Given the description of an element on the screen output the (x, y) to click on. 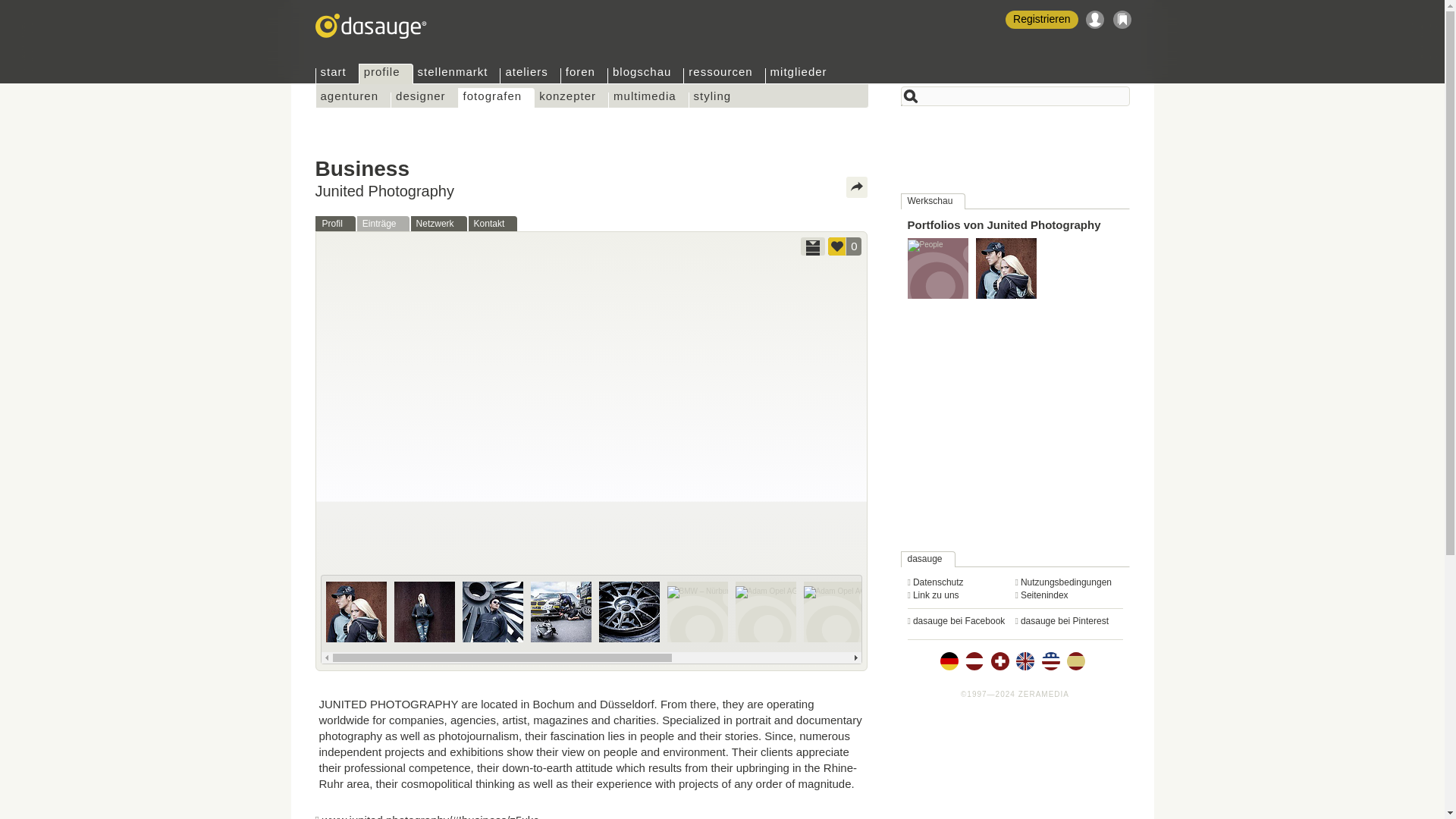
Adam Opel AG (970, 611)
Adam Opel AG (833, 611)
stellenmarkt (456, 75)
Merkzettel (1121, 19)
Adam Opel AG (902, 611)
foren (583, 75)
start (336, 75)
Adam Opel AG (1038, 611)
Kostenlos dasauge-Mitglied werden (1041, 19)
styling (716, 99)
